Given the description of an element on the screen output the (x, y) to click on. 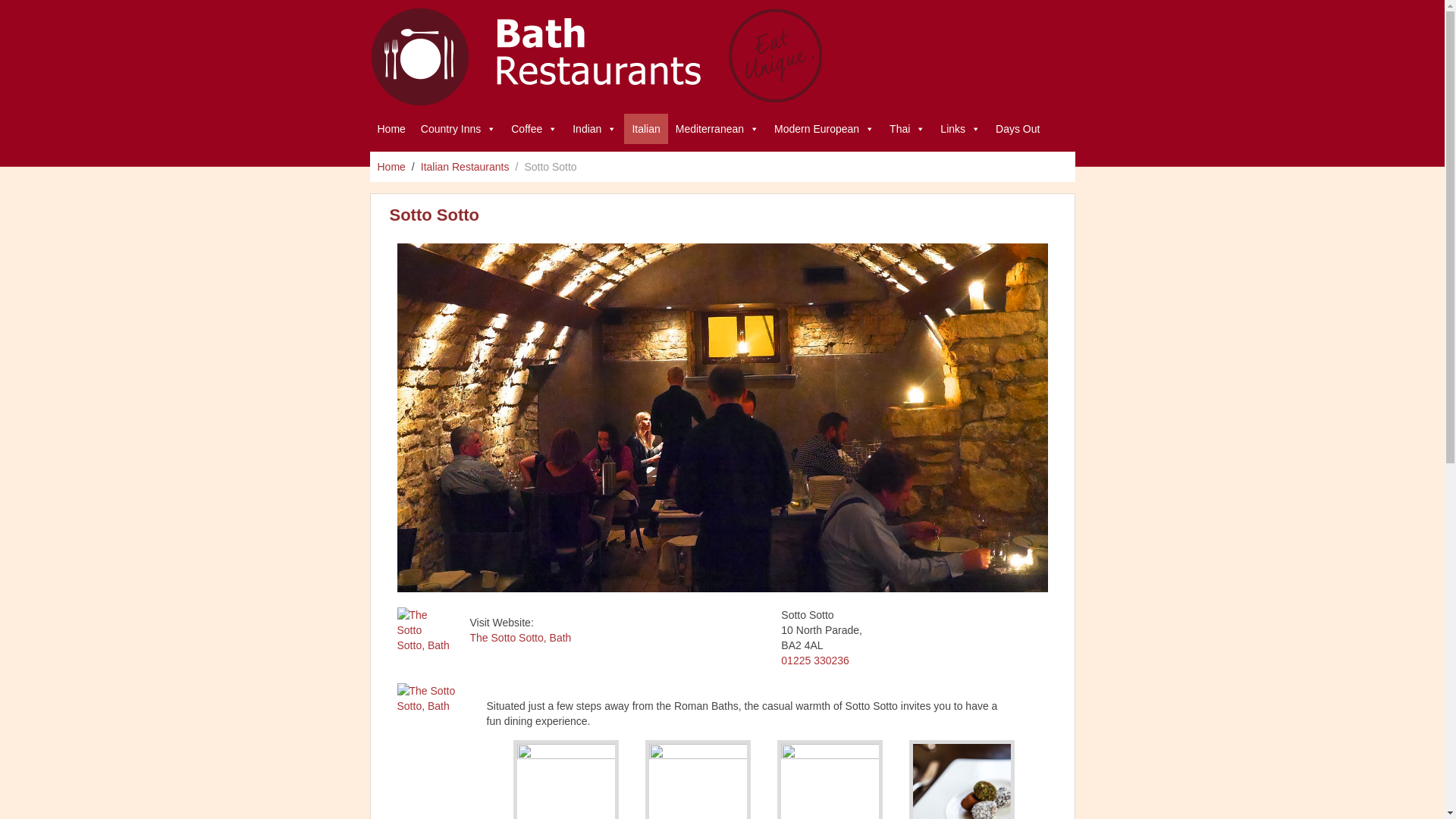
Click for The Sotto Sotto website (521, 637)
Click for The Sotto Sotto website (424, 633)
Italian (645, 128)
Thai (907, 128)
Coffee (533, 128)
Links (960, 128)
Italian Restaurants (464, 166)
Home (391, 166)
Click for The Sotto Sotto website (436, 722)
Modern European (824, 128)
Country Inns (458, 128)
01225 330236 (814, 660)
The Sotto Sotto, Bath (521, 637)
Home (391, 128)
